Given the description of an element on the screen output the (x, y) to click on. 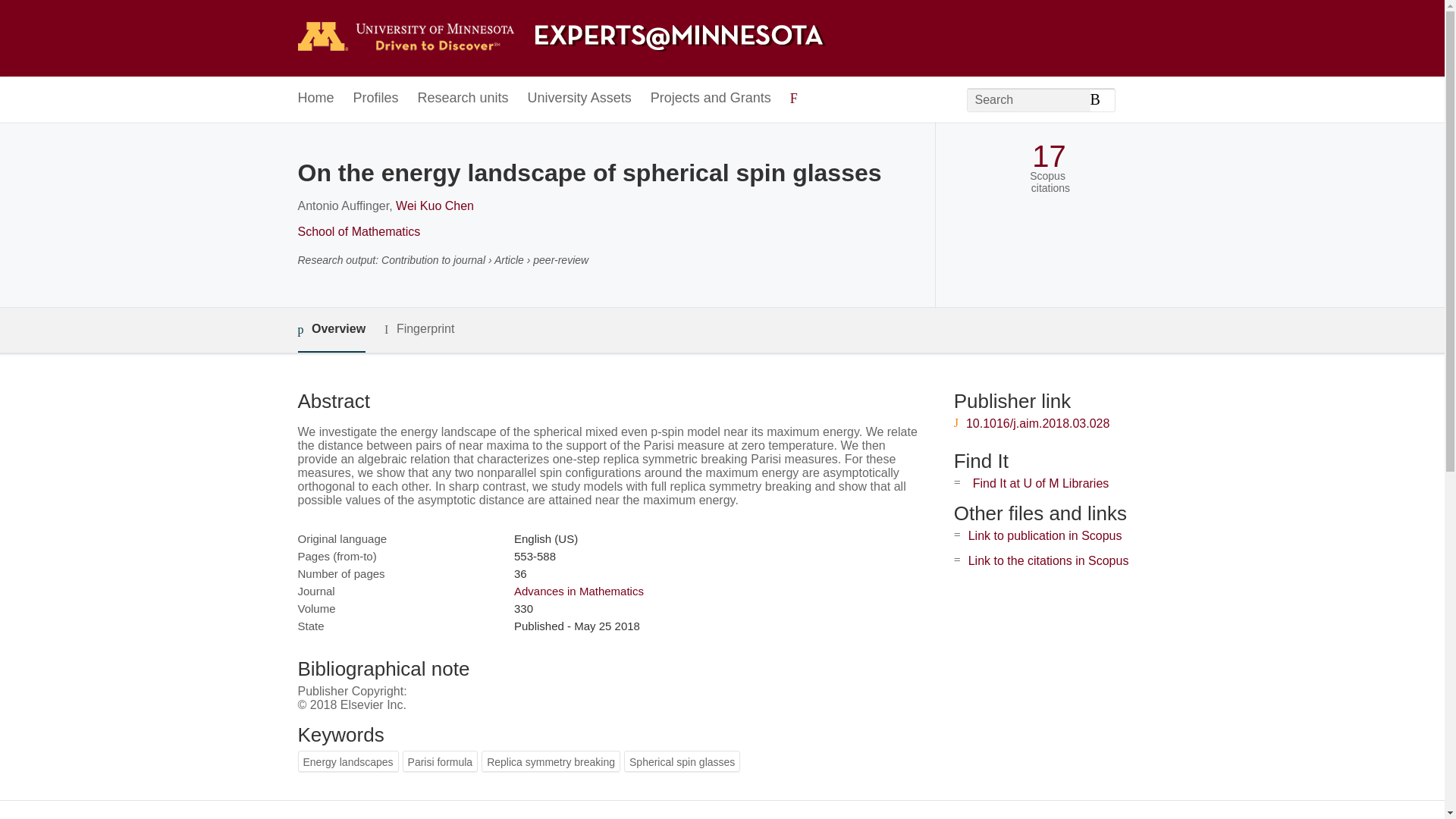
Projects and Grants (710, 98)
Link to the citations in Scopus (1048, 560)
Wei Kuo Chen (435, 205)
University Assets (579, 98)
Find It at U of M Libraries (1040, 482)
Fingerprint (419, 329)
Profiles (375, 98)
Link to publication in Scopus (1045, 535)
Overview (331, 329)
Advances in Mathematics (578, 590)
School of Mathematics (358, 231)
17 (1048, 156)
Research units (462, 98)
